Given the description of an element on the screen output the (x, y) to click on. 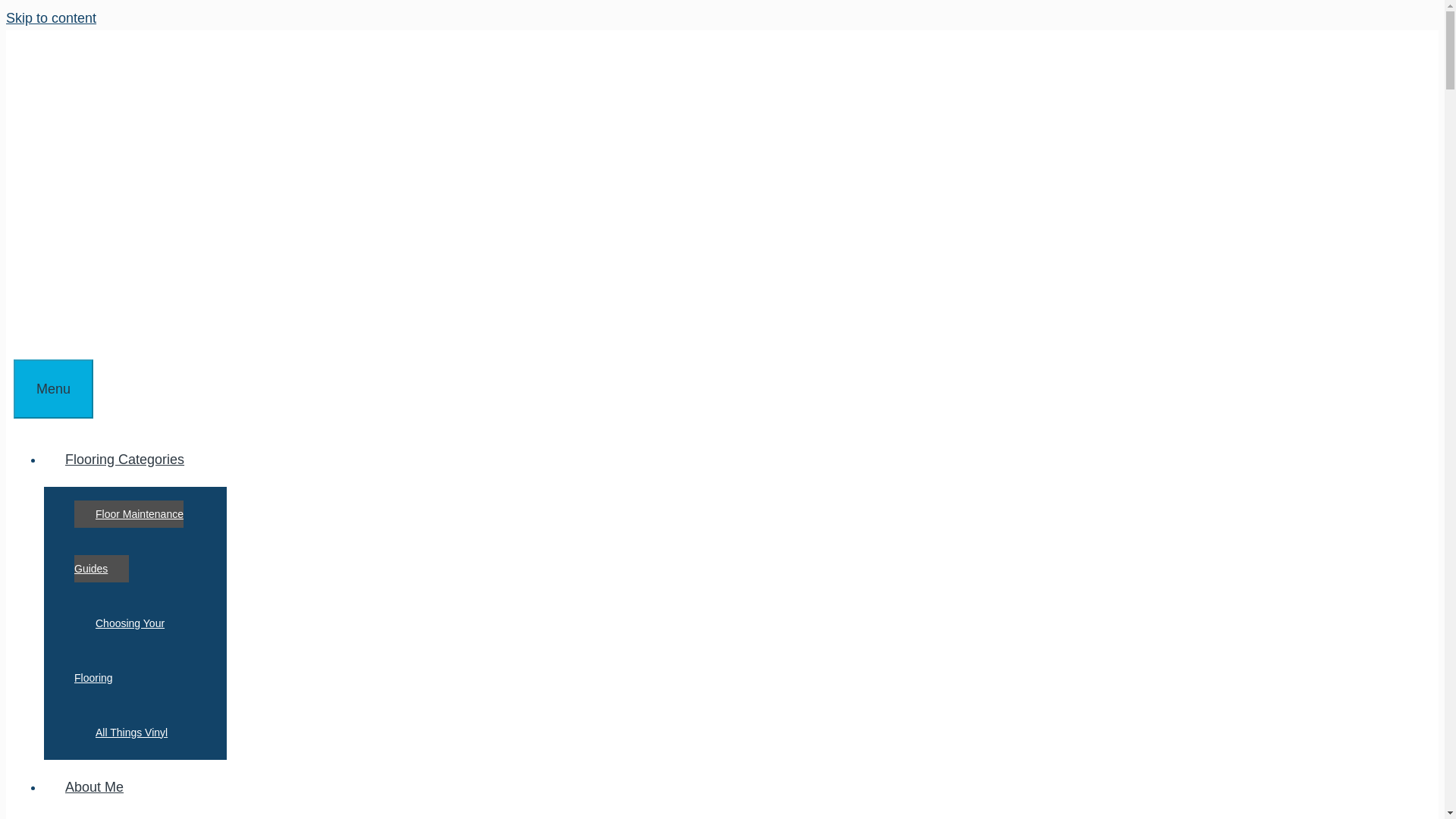
Choosing Your Flooring (119, 650)
Flooring Categories (135, 459)
About Me (93, 786)
All Things Vinyl (131, 732)
Floor Maintenance Guides (128, 541)
Menu (53, 388)
Skip to content (50, 17)
Skip to content (50, 17)
